Given the description of an element on the screen output the (x, y) to click on. 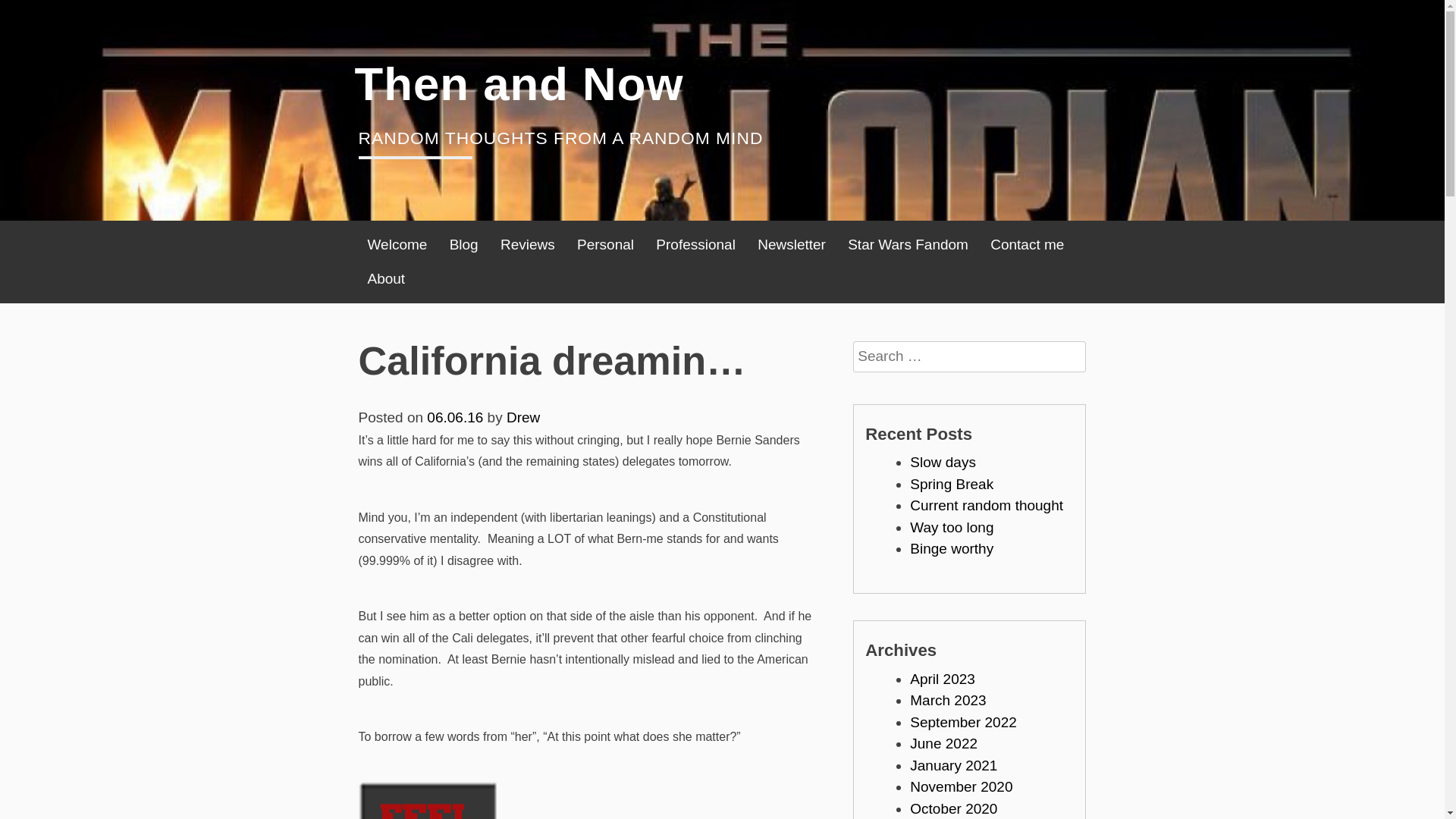
Search (868, 386)
Blog (464, 245)
Welcome (396, 245)
Current random thought (986, 505)
Search (868, 386)
Spring Break (951, 483)
Personal (605, 245)
Slow days (942, 462)
Then and Now (519, 83)
April 2023 (942, 678)
Reviews (528, 245)
Contact me (1027, 245)
About (385, 279)
Drew (523, 417)
Star Wars Fandom (907, 245)
